Given the description of an element on the screen output the (x, y) to click on. 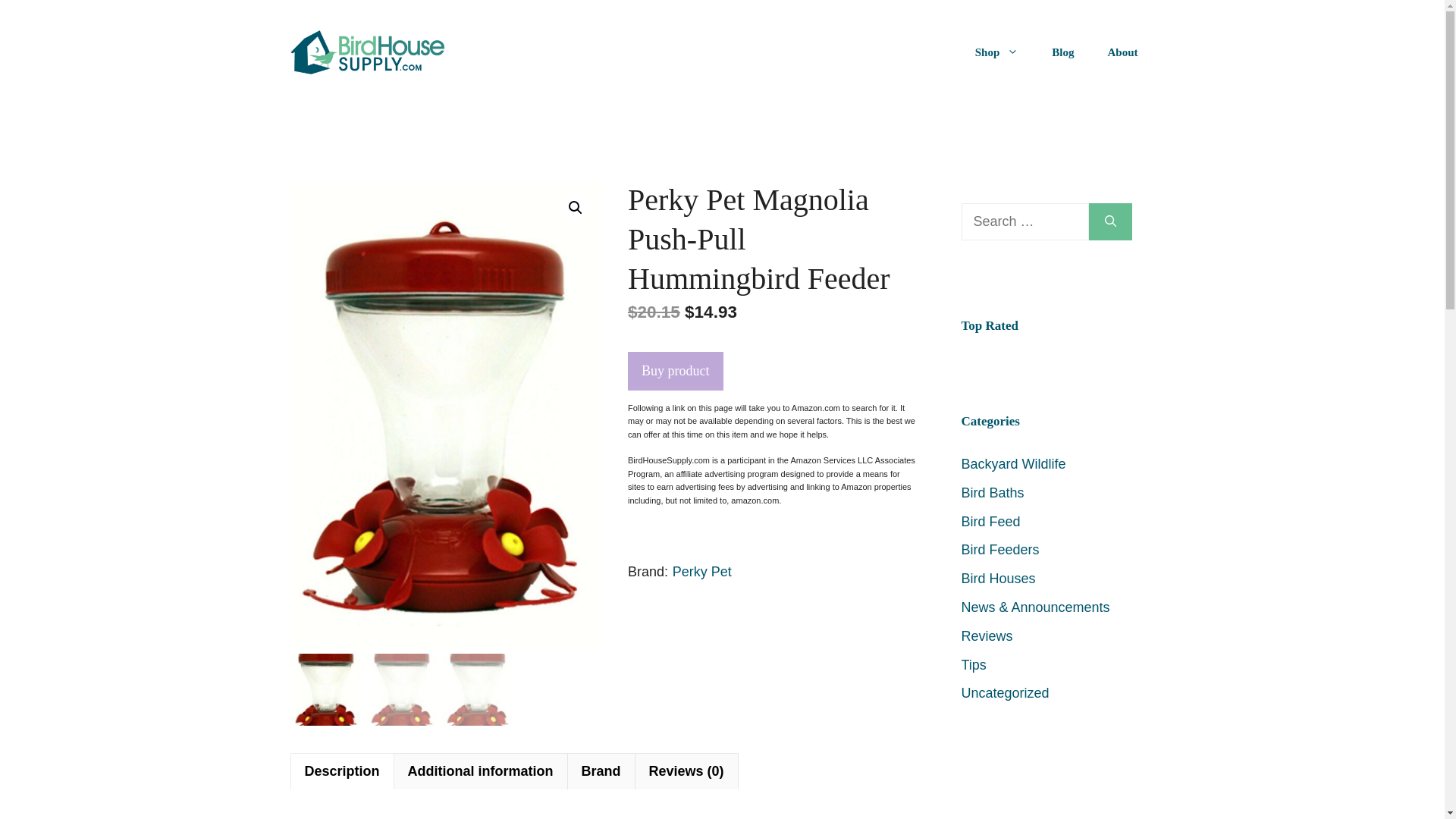
View brand (702, 572)
Search for: (1024, 221)
Advertisement (1046, 788)
Shop (996, 52)
